Given the description of an element on the screen output the (x, y) to click on. 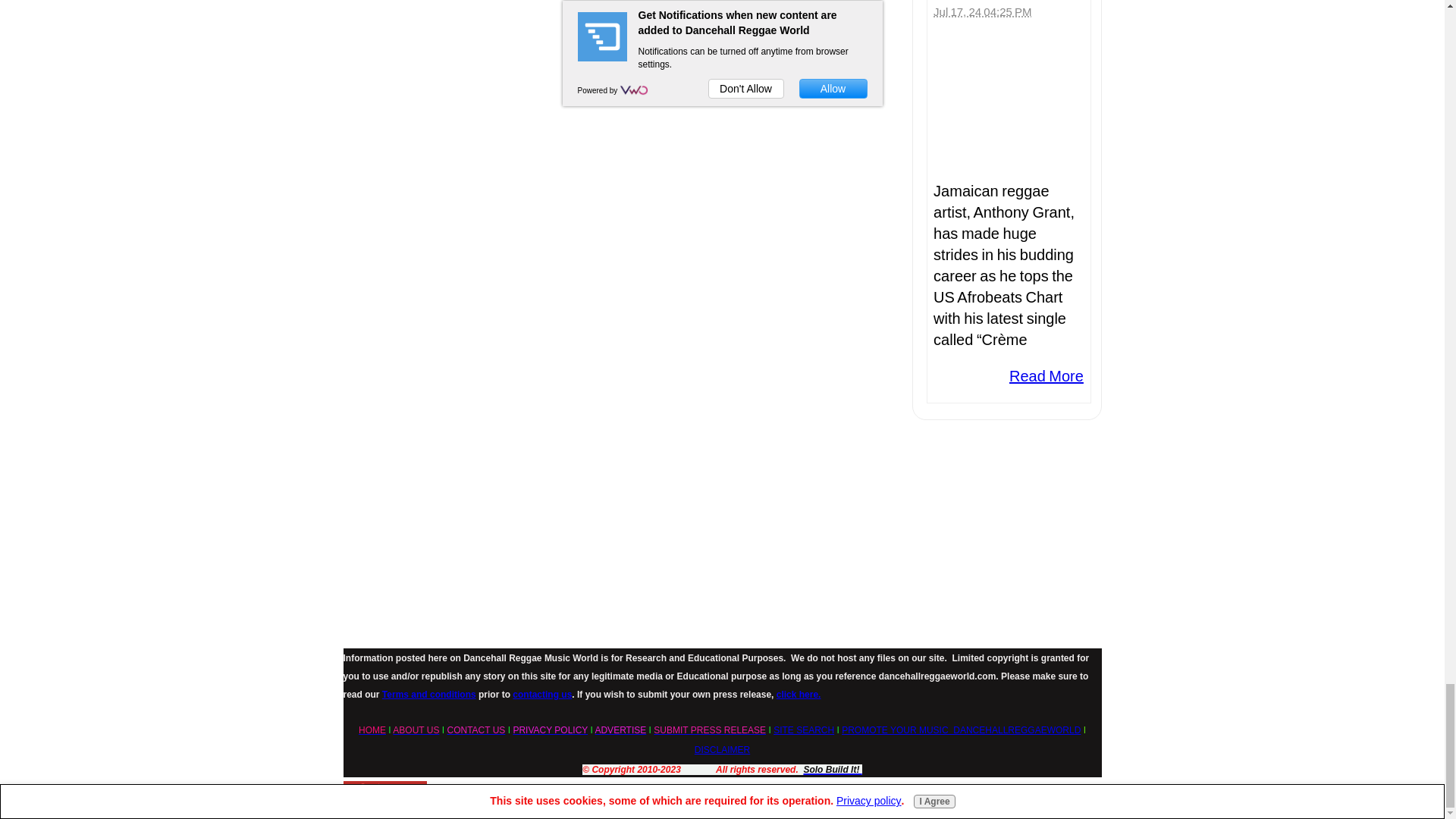
2024-07-17T16:25:32-0400 (981, 11)
